Given the description of an element on the screen output the (x, y) to click on. 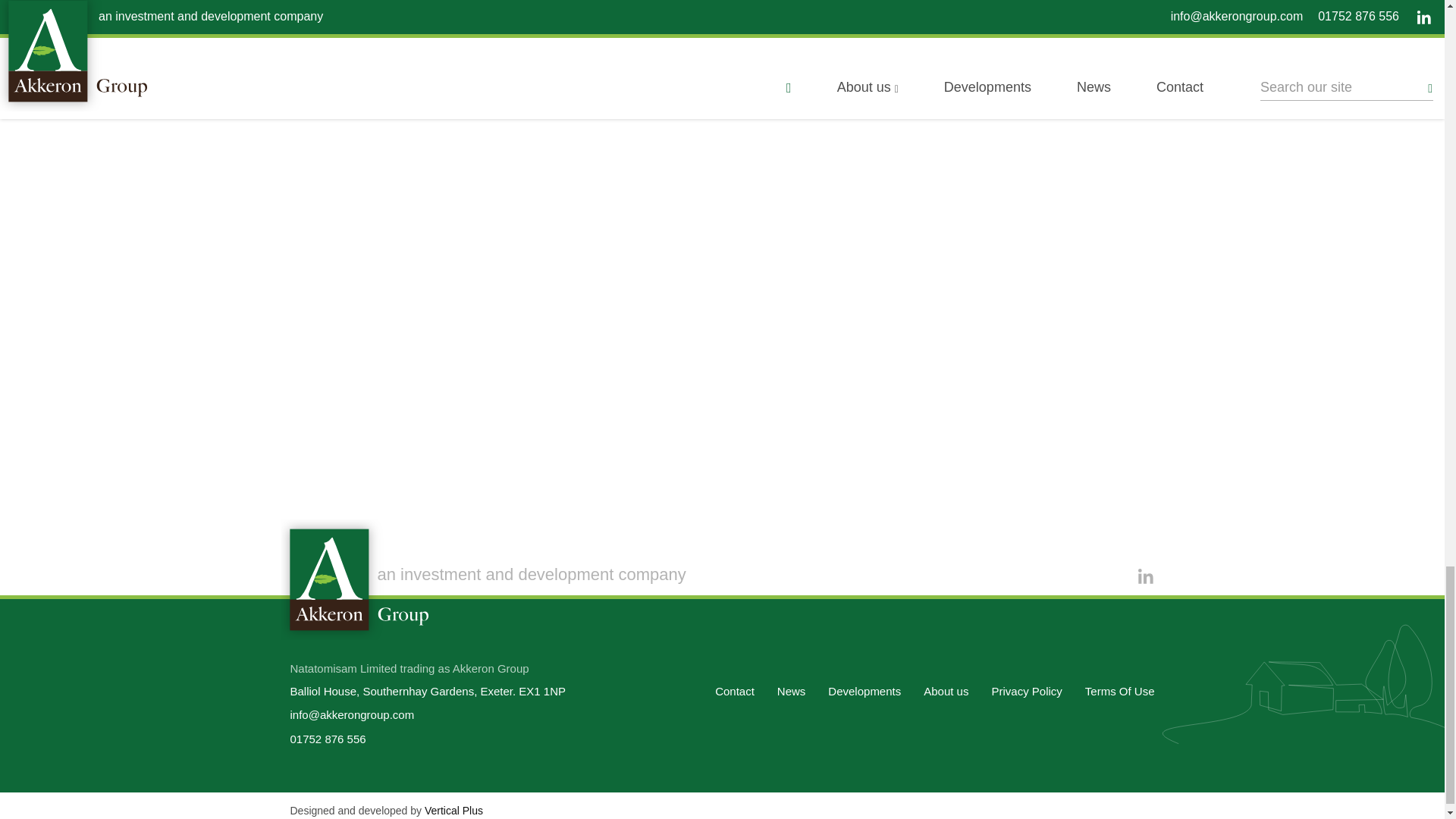
Vertical Plus (454, 810)
Contact (734, 690)
News (791, 690)
About us (945, 690)
Terms Of Use (1119, 690)
Privacy Policy (1026, 690)
Follow us on linkedin (1143, 574)
Developments (864, 690)
01752 876 556 (327, 738)
